Given the description of an element on the screen output the (x, y) to click on. 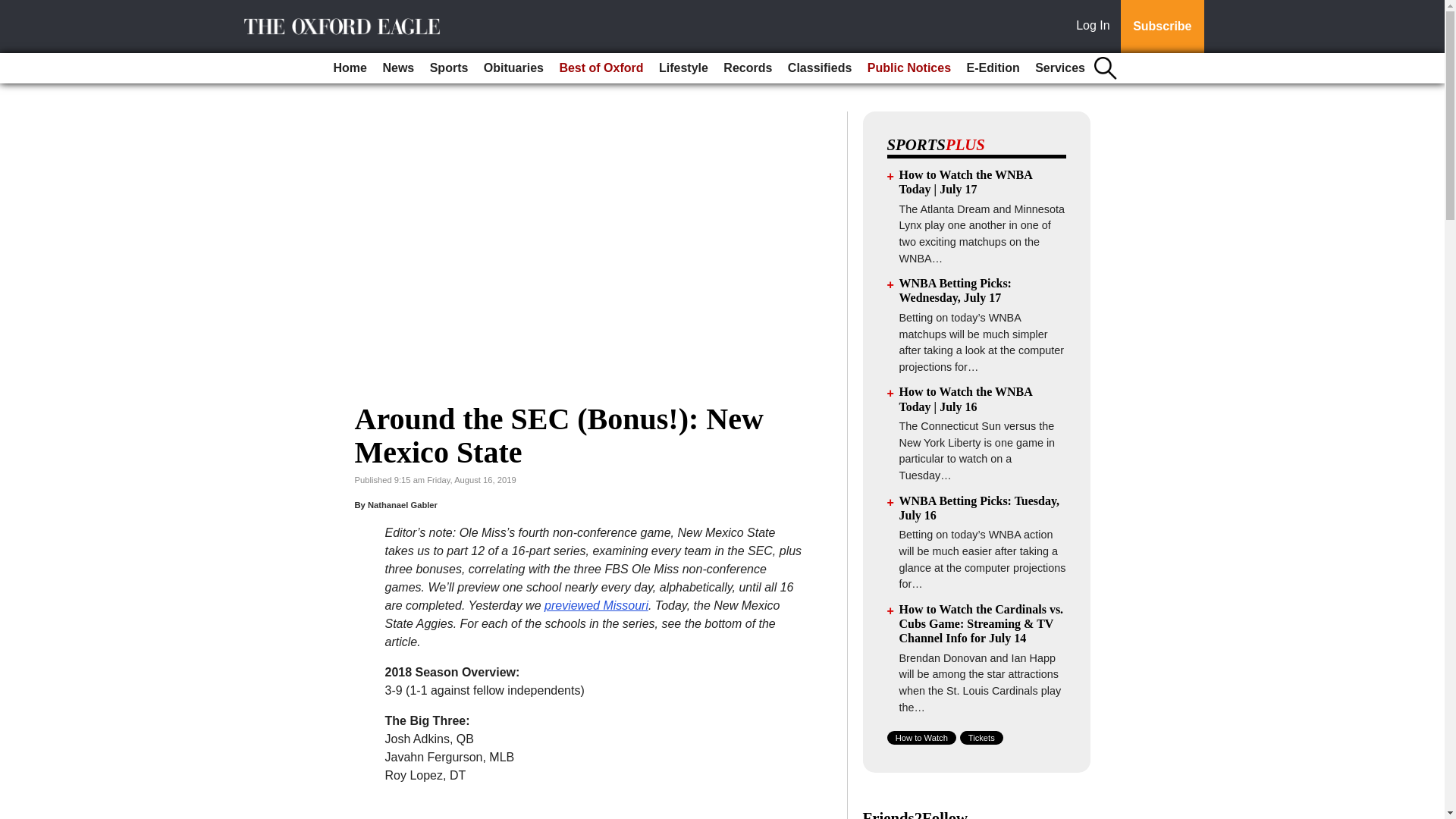
Go (13, 9)
previewed Missouri (595, 604)
Subscribe (1162, 26)
Best of Oxford (601, 68)
E-Edition (992, 68)
Sports (448, 68)
Services (1059, 68)
Obituaries (513, 68)
Home (349, 68)
Nathanael Gabler (403, 504)
Public Notices (908, 68)
Lifestyle (683, 68)
Log In (1095, 26)
Records (747, 68)
News (397, 68)
